Given the description of an element on the screen output the (x, y) to click on. 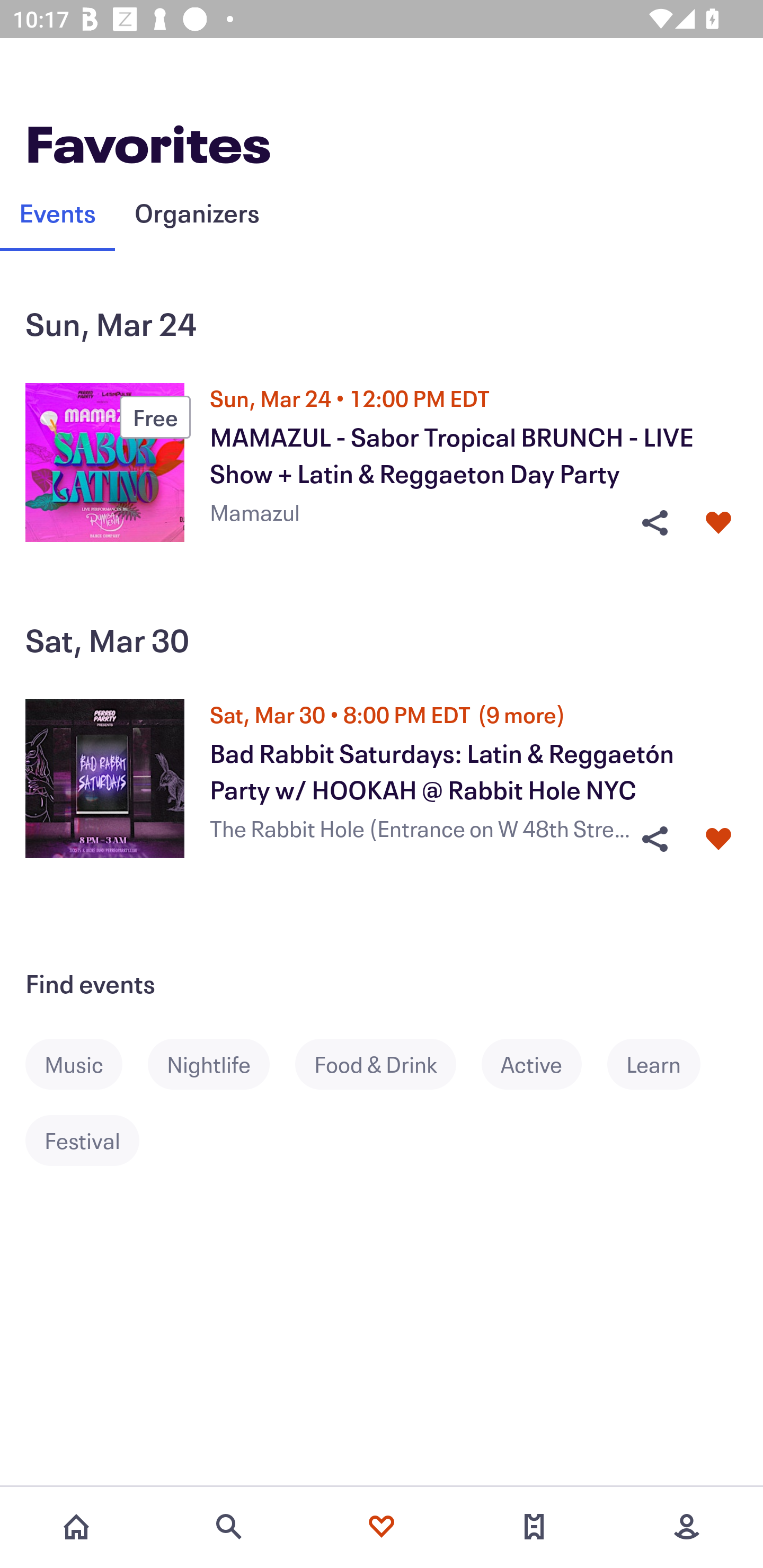
Organizers (196, 212)
Share Event (654, 522)
Unlike event (718, 522)
Share Event (654, 838)
Unlike event (718, 838)
Music (86, 1063)
Nightlife (221, 1063)
Food & Drink (388, 1063)
Active (544, 1063)
Learn (666, 1063)
Festival (94, 1140)
Home (76, 1526)
Search events (228, 1526)
Favorites (381, 1526)
Tickets (533, 1526)
More (686, 1526)
